Given the description of an element on the screen output the (x, y) to click on. 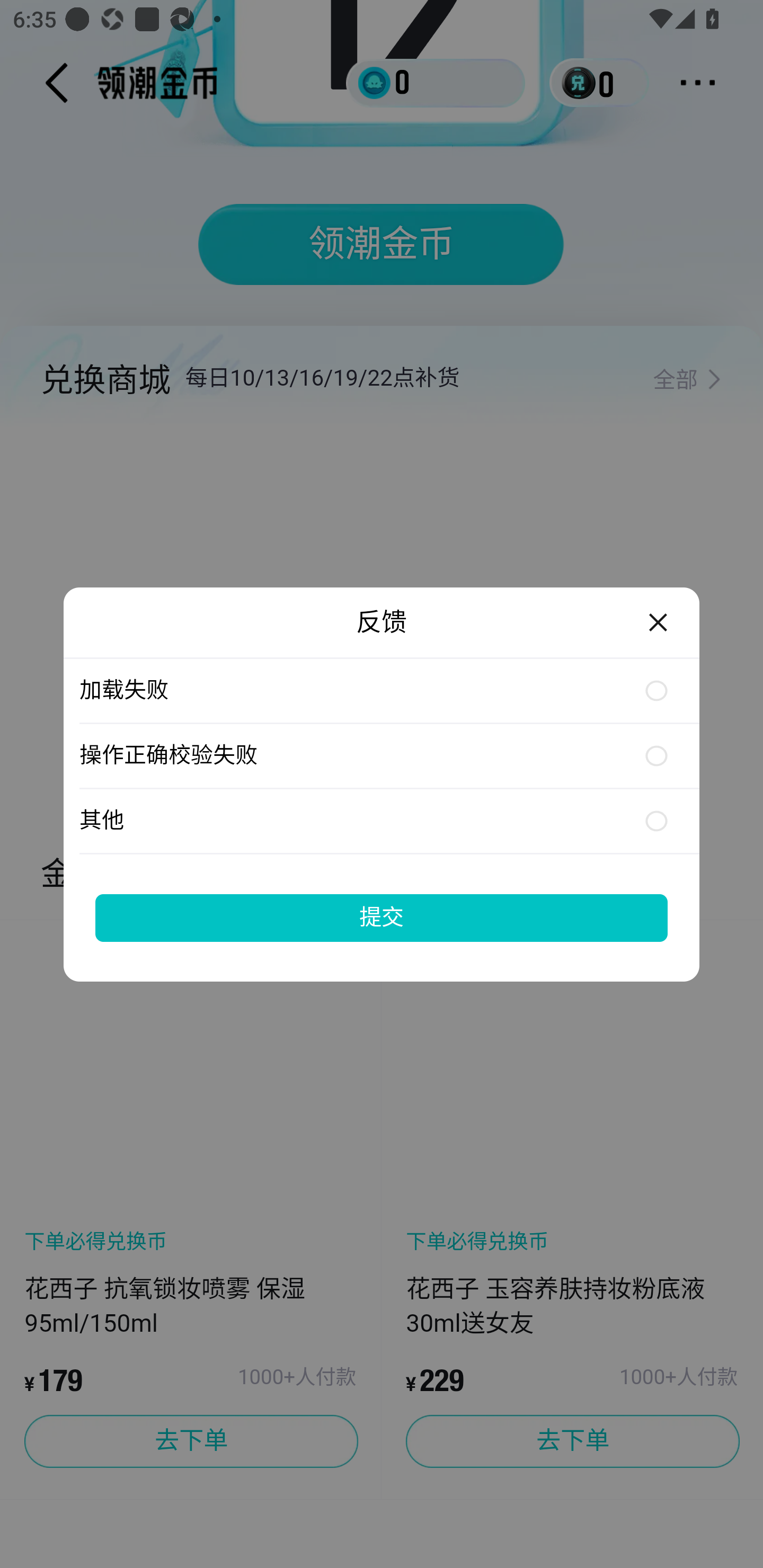
提交 (381, 917)
